Given the description of an element on the screen output the (x, y) to click on. 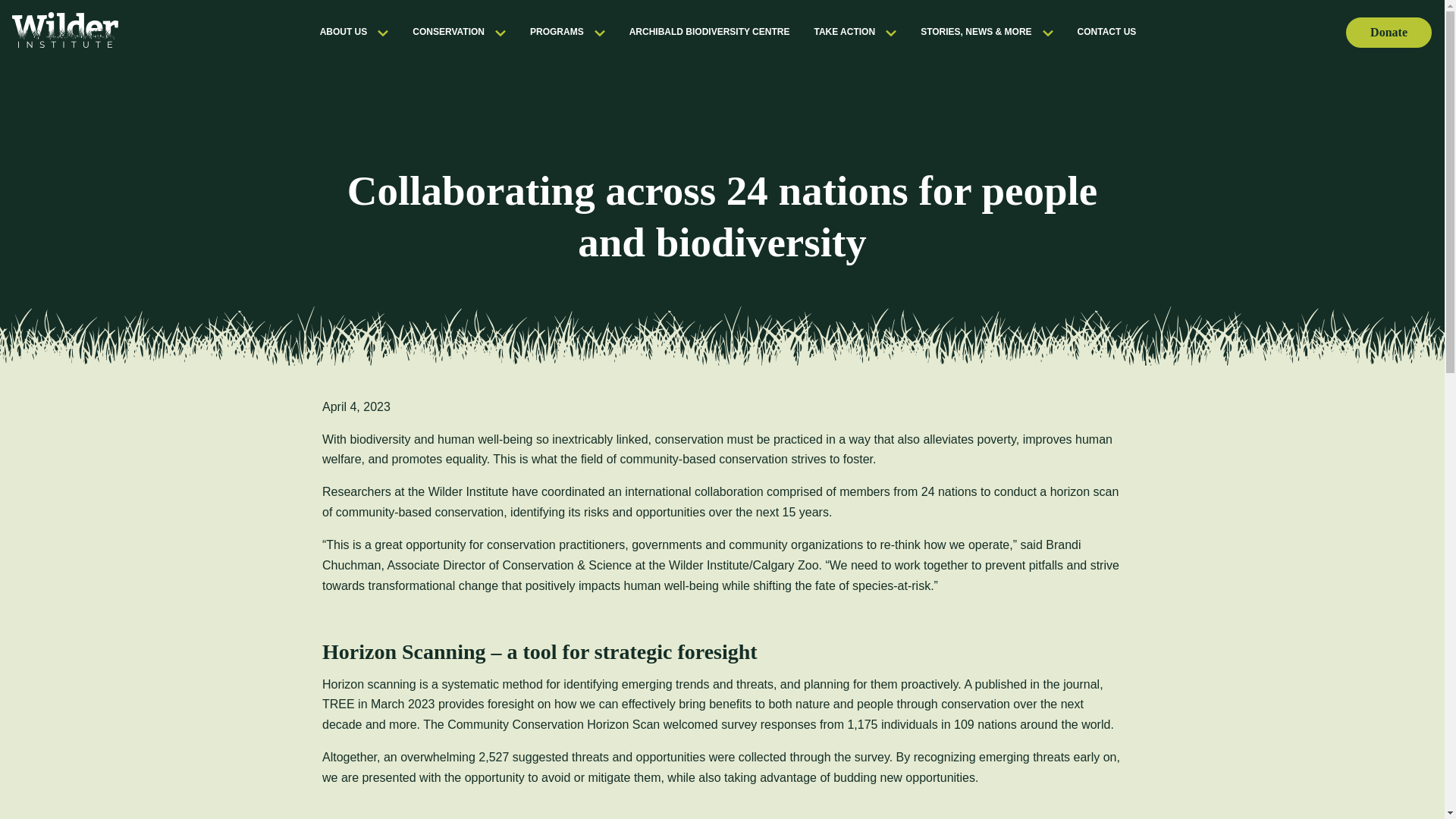
ABOUT US (354, 31)
PROGRAMS (567, 31)
CONSERVATION (458, 31)
TAKE ACTION (854, 31)
ARCHIBALD BIODIVERSITY CENTRE (709, 31)
Return to homepage (64, 31)
